Given the description of an element on the screen output the (x, y) to click on. 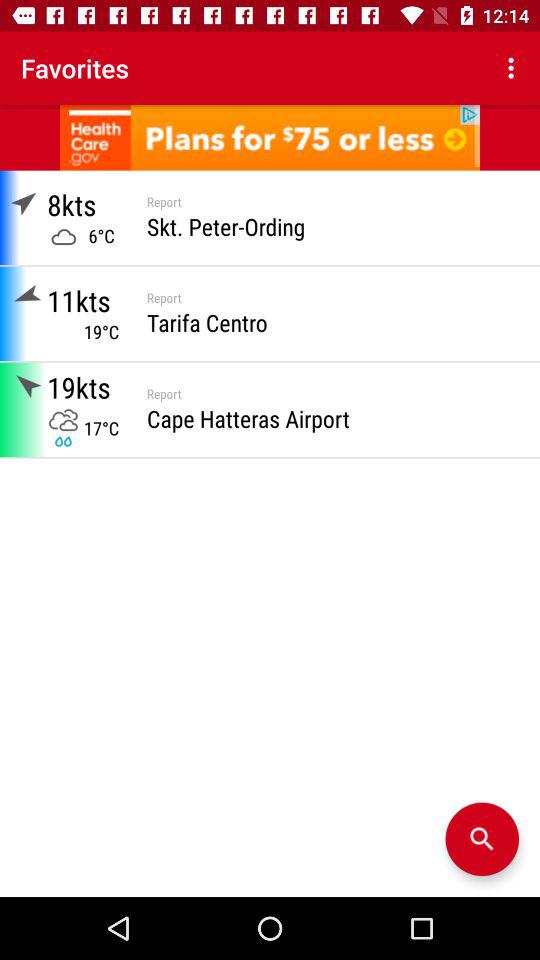
go to advertiser website (270, 137)
